Given the description of an element on the screen output the (x, y) to click on. 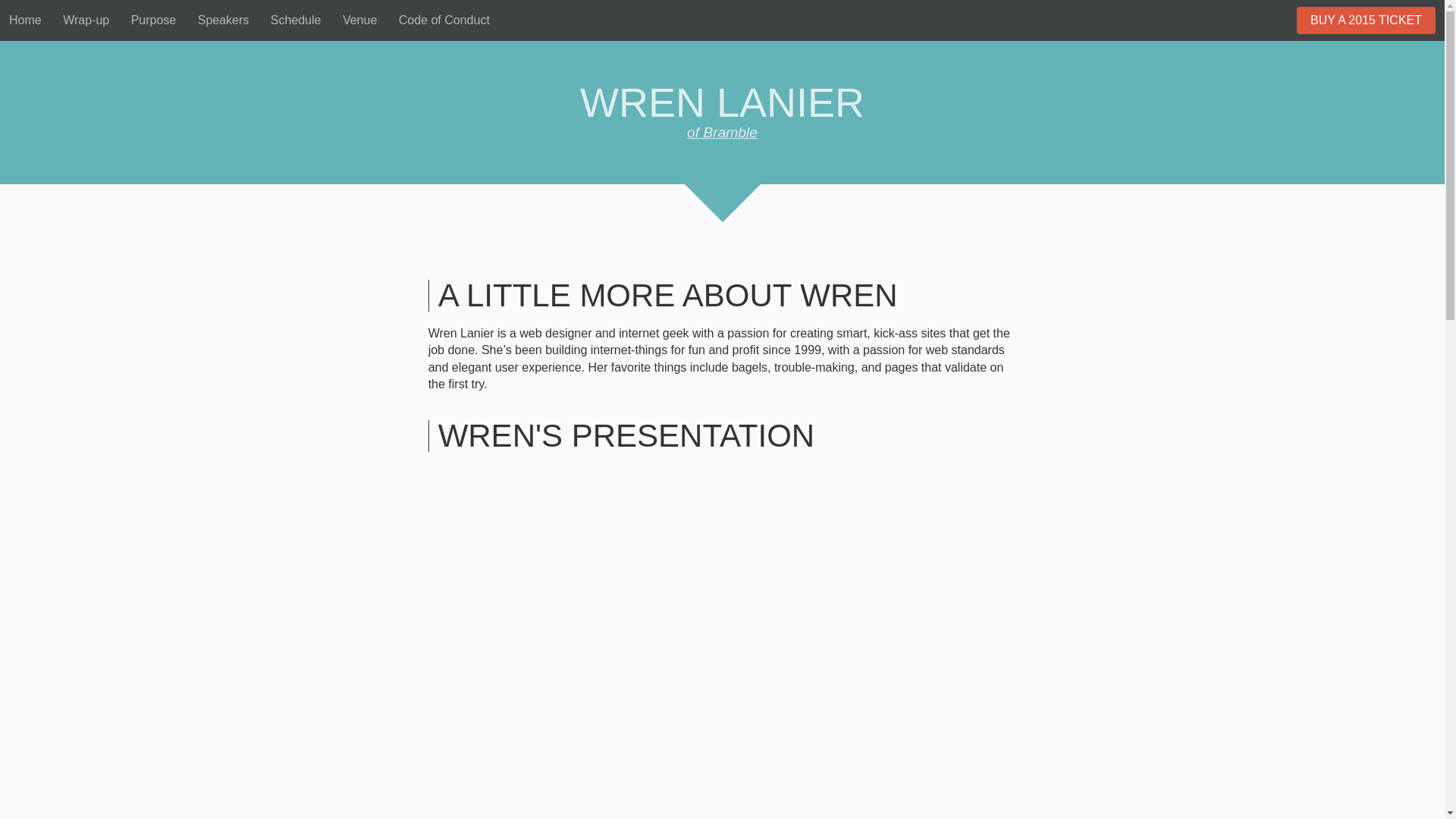
Home (25, 10)
Schedule (296, 10)
Speakers (223, 10)
Wrap-up (85, 10)
Code of Conduct (444, 10)
Purpose (153, 10)
Venue (359, 10)
Bramble (722, 132)
BUY A 2015 TICKET (1366, 20)
